Given the description of an element on the screen output the (x, y) to click on. 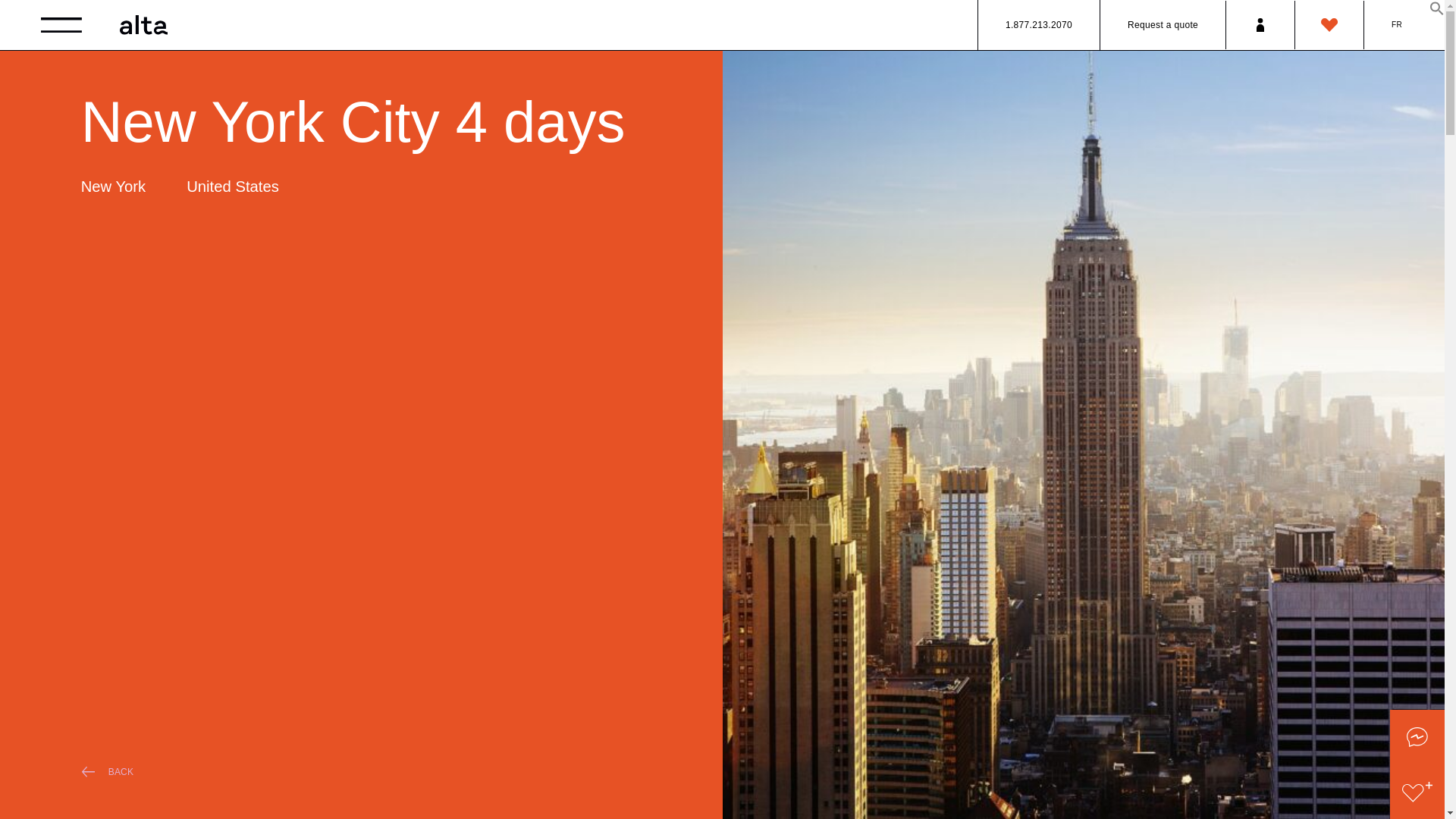
1.877.213.2070 (1038, 24)
My Alta (1259, 24)
Favourite trips (1328, 24)
BACK (381, 771)
Request a quote (1162, 24)
FR (1396, 24)
Toggle navigation (60, 24)
